Given the description of an element on the screen output the (x, y) to click on. 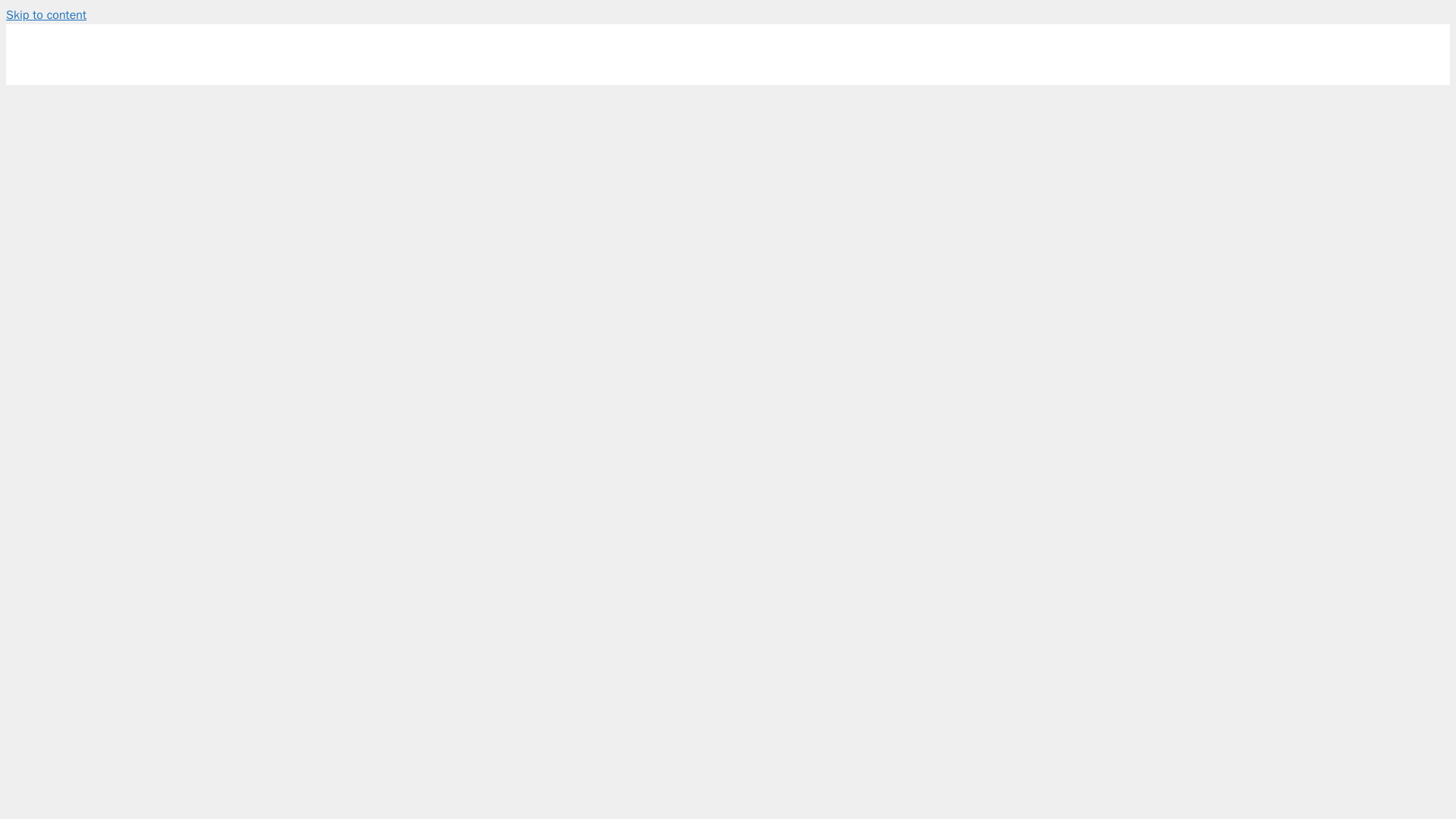
Skip to content (45, 14)
Skip to content (45, 14)
